Given the description of an element on the screen output the (x, y) to click on. 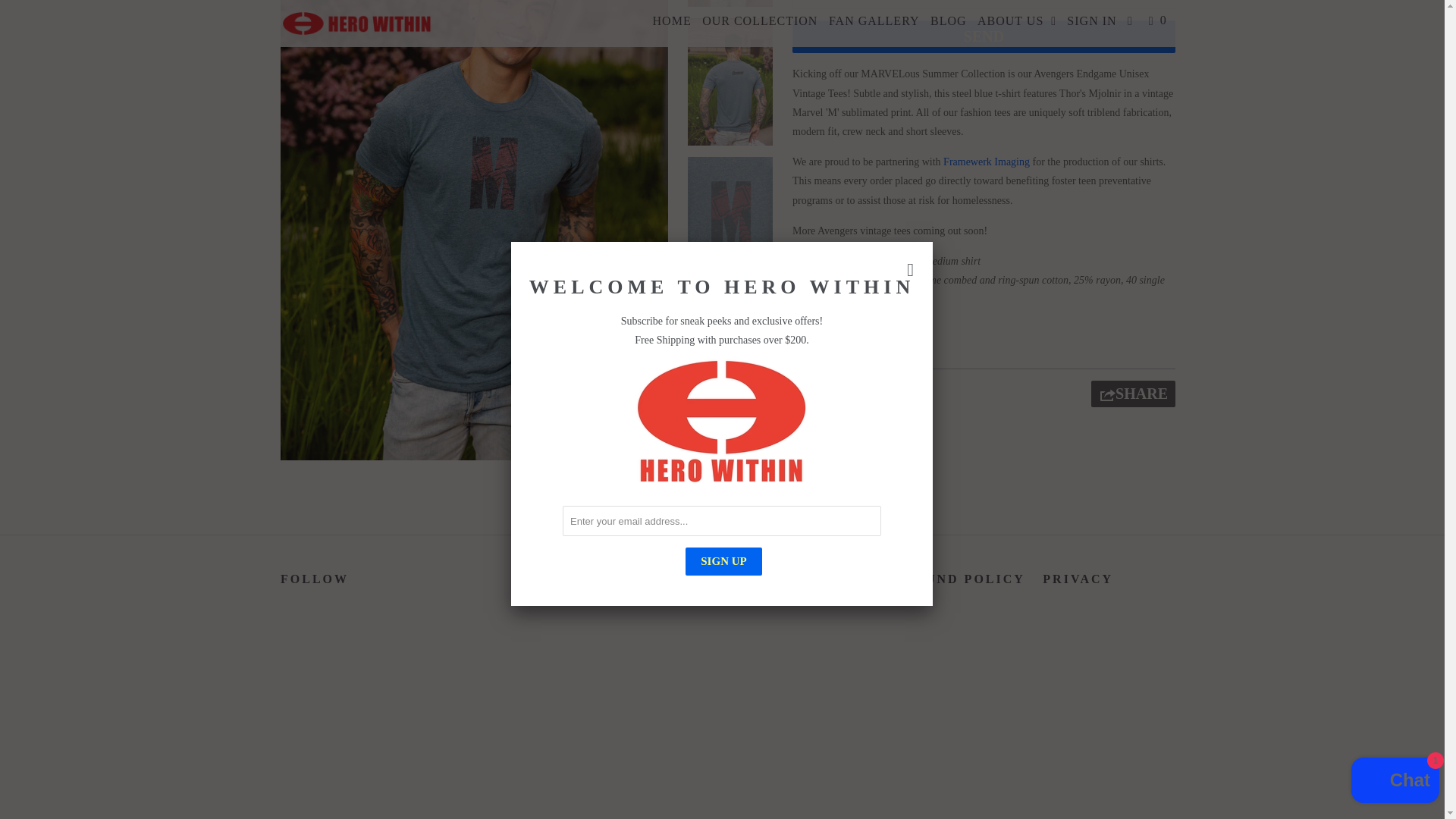
Framewerk Imaging (986, 161)
Send (983, 36)
Shopify online store chat (1395, 550)
Sign Up (723, 329)
Send (983, 36)
